Given the description of an element on the screen output the (x, y) to click on. 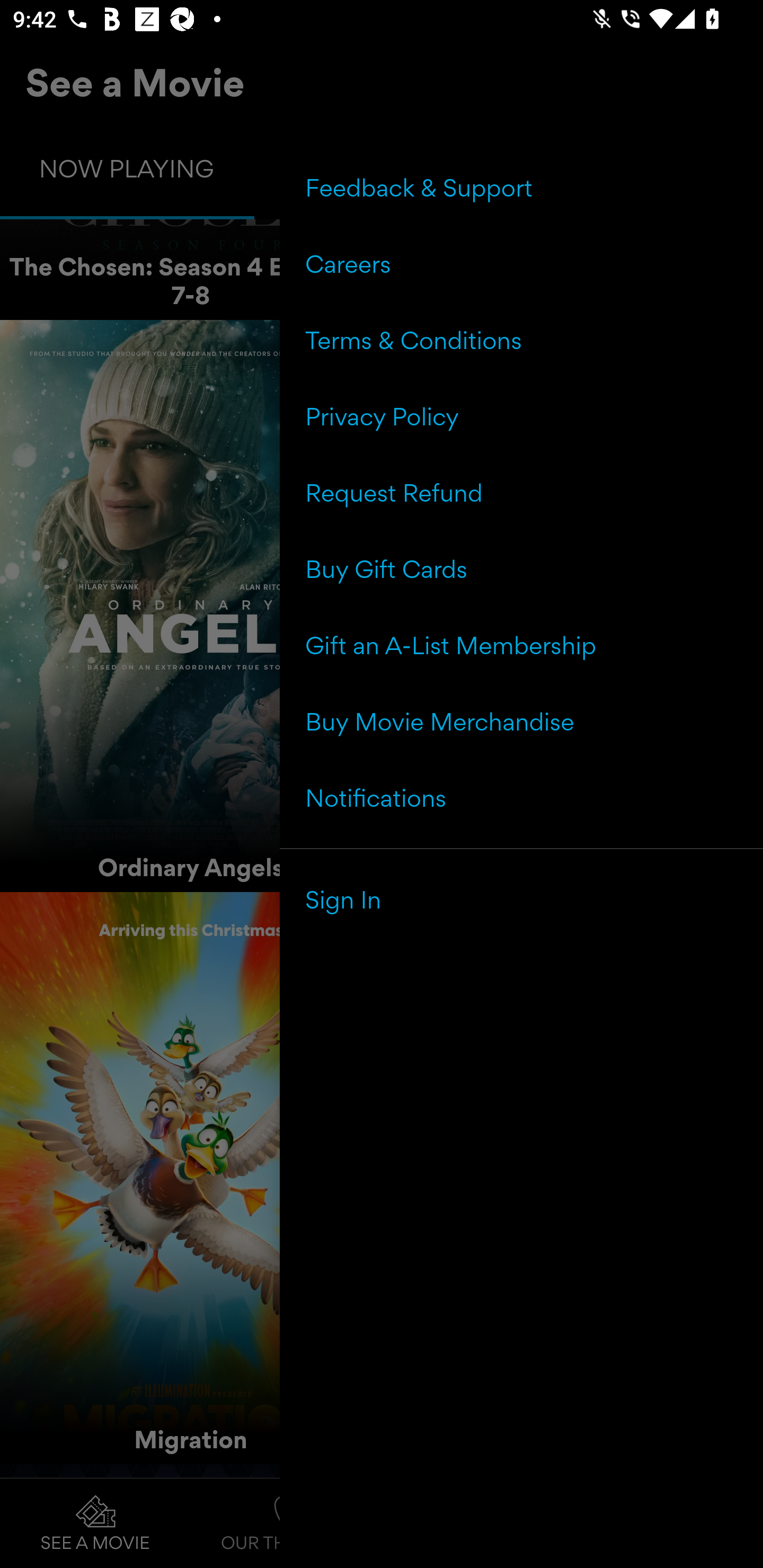
Feedback & Support (521, 186)
Careers (521, 263)
Terms & Conditions (521, 339)
Privacy Policy (521, 415)
Request Refund (521, 492)
Buy Gift Cards (521, 568)
Gift an A-List Membership (521, 644)
Buy Movie Merchandise (521, 720)
Notifications (521, 796)
Sign In (521, 898)
